Given the description of an element on the screen output the (x, y) to click on. 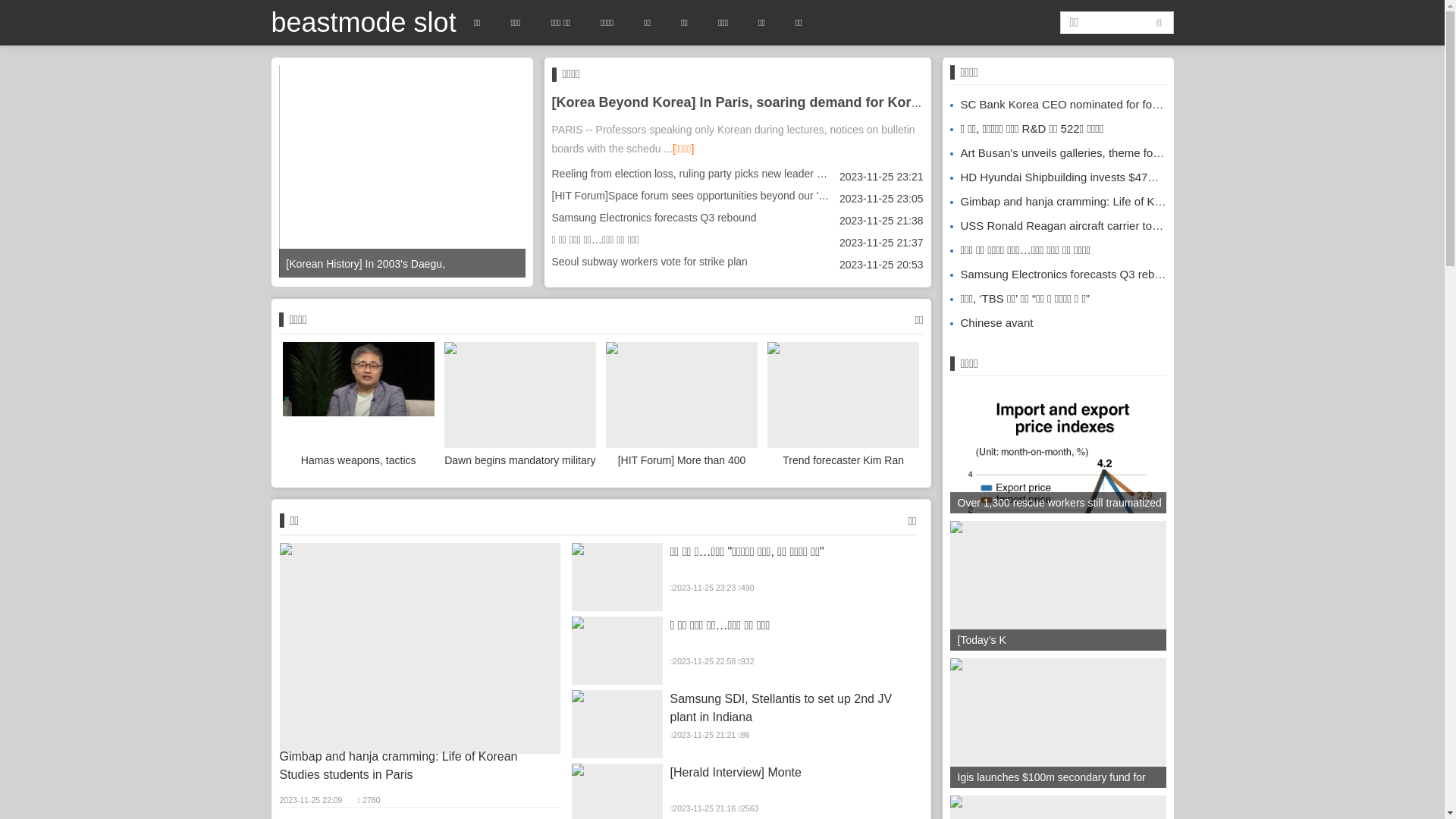
Dawn begins mandatory military service Element type: text (520, 407)
Samsung SDI, Stellantis to set up 2nd JV plant in Indiana Element type: hover (616, 724)
Seoul subway workers vote for strike plan Element type: text (649, 261)
beastmode slot Element type: text (363, 21)
Hamas weapons, tactics resemble those of NK: JCS Element type: text (357, 407)
Chinese avant Element type: text (990, 322)
SC Bank Korea CEO nominated for fourth term Element type: text (1073, 103)
[Herald Interview] Monte Element type: text (795, 772)
Samsung SDI, Stellantis to set up 2nd JV plant in Indiana Element type: text (795, 708)
Samsung Electronics forecasts Q3 rebound Element type: text (654, 217)
Trend forecaster Kim Ran Element type: text (843, 407)
Samsung Electronics forecasts Q3 rebound Element type: text (1064, 273)
